Given the description of an element on the screen output the (x, y) to click on. 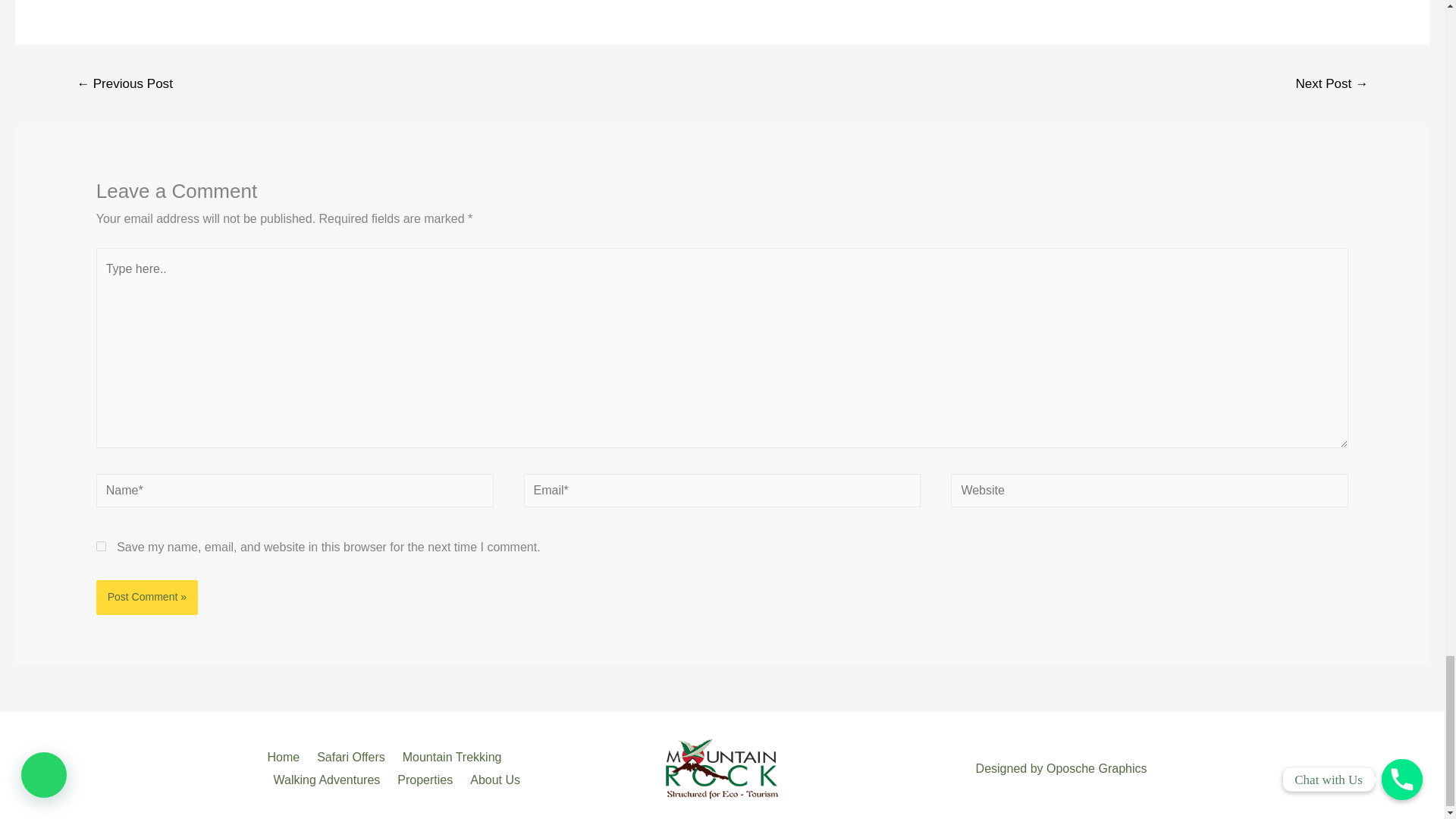
Properties (427, 780)
Mountain Trekking (454, 757)
About Us (497, 780)
yes (101, 546)
Safari Offers (353, 757)
Home (288, 757)
Walking Adventures (328, 780)
